Given the description of an element on the screen output the (x, y) to click on. 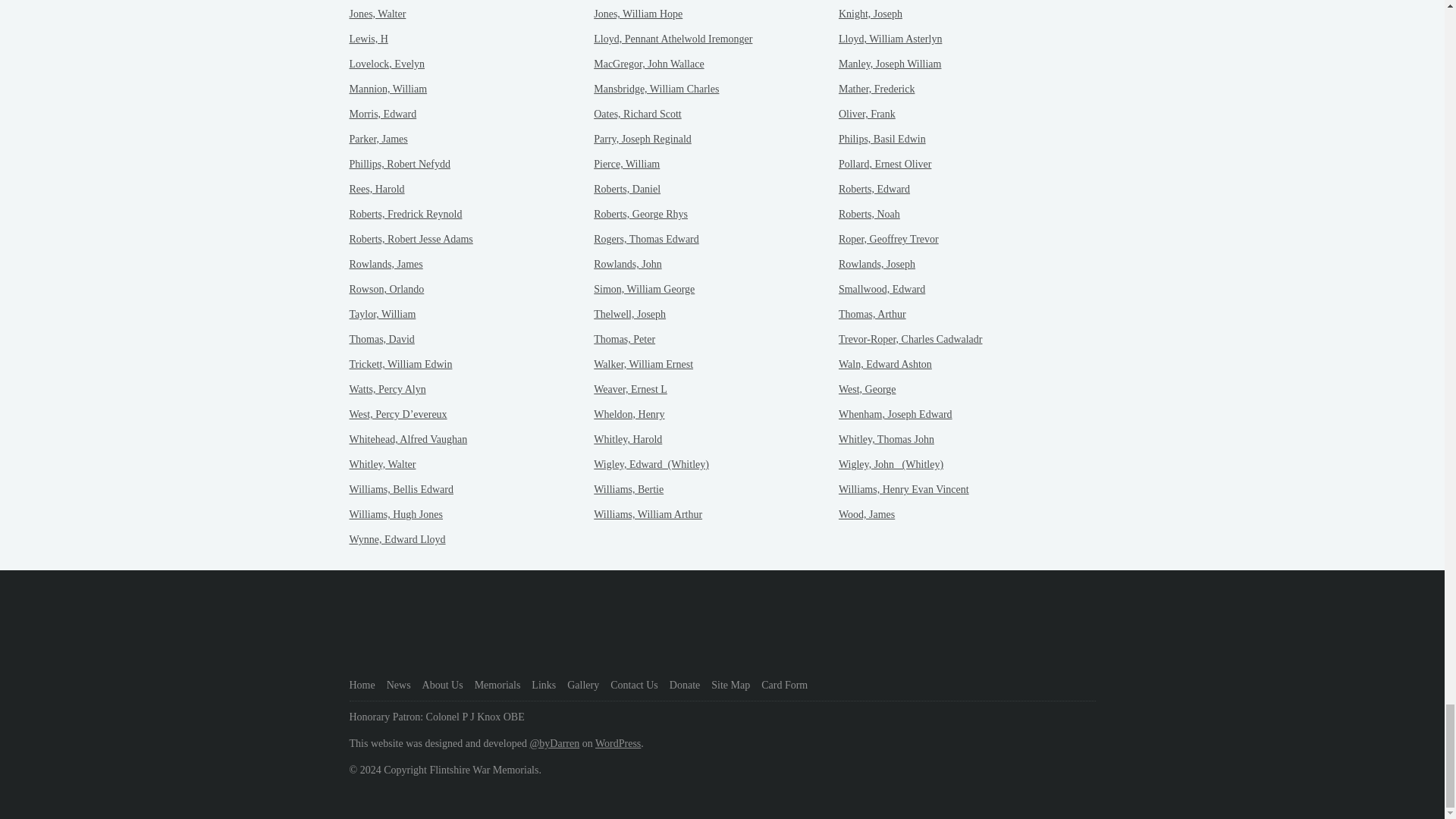
WordPress (617, 743)
